Given the description of an element on the screen output the (x, y) to click on. 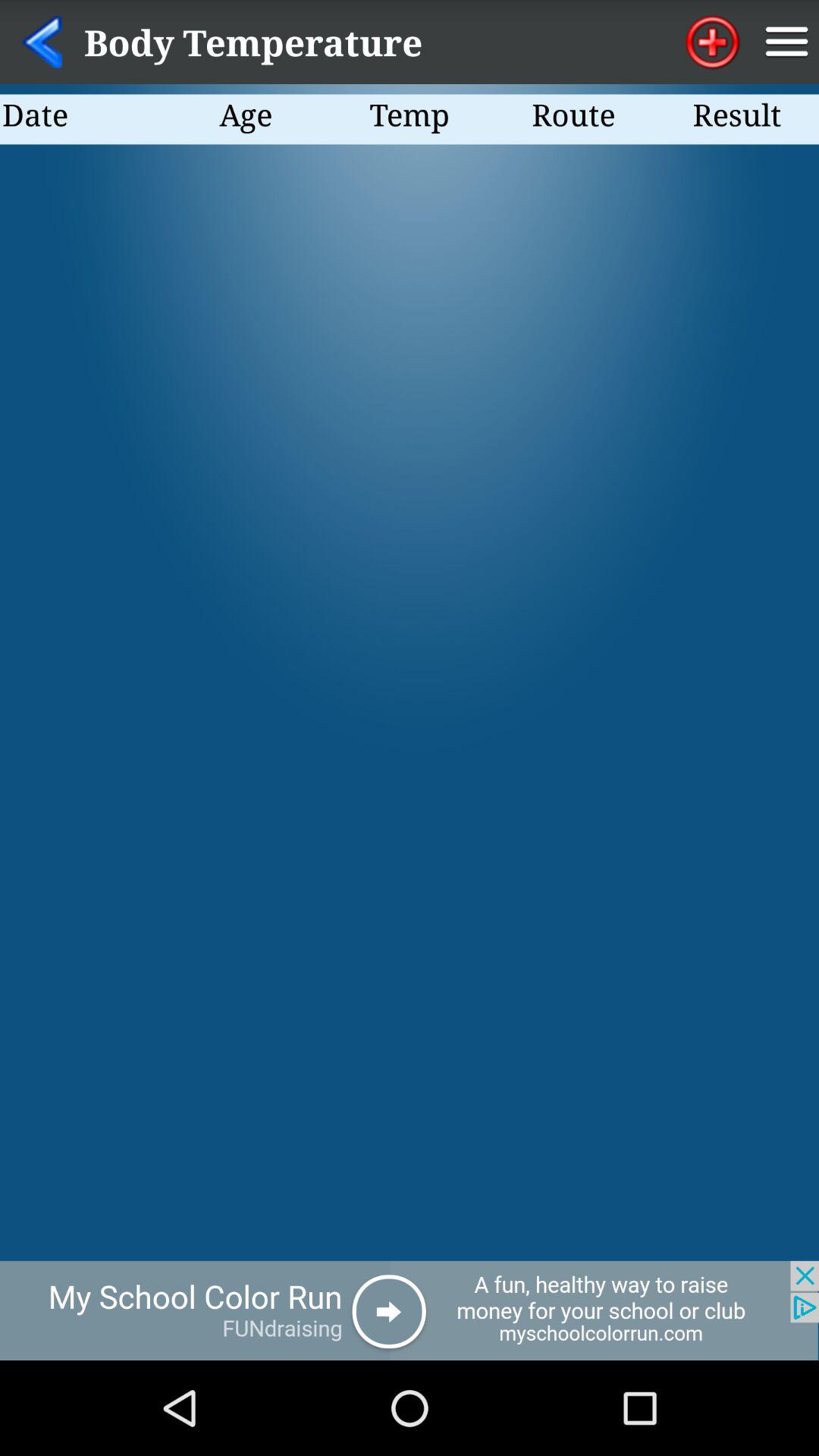
click the add (409, 1310)
